Given the description of an element on the screen output the (x, y) to click on. 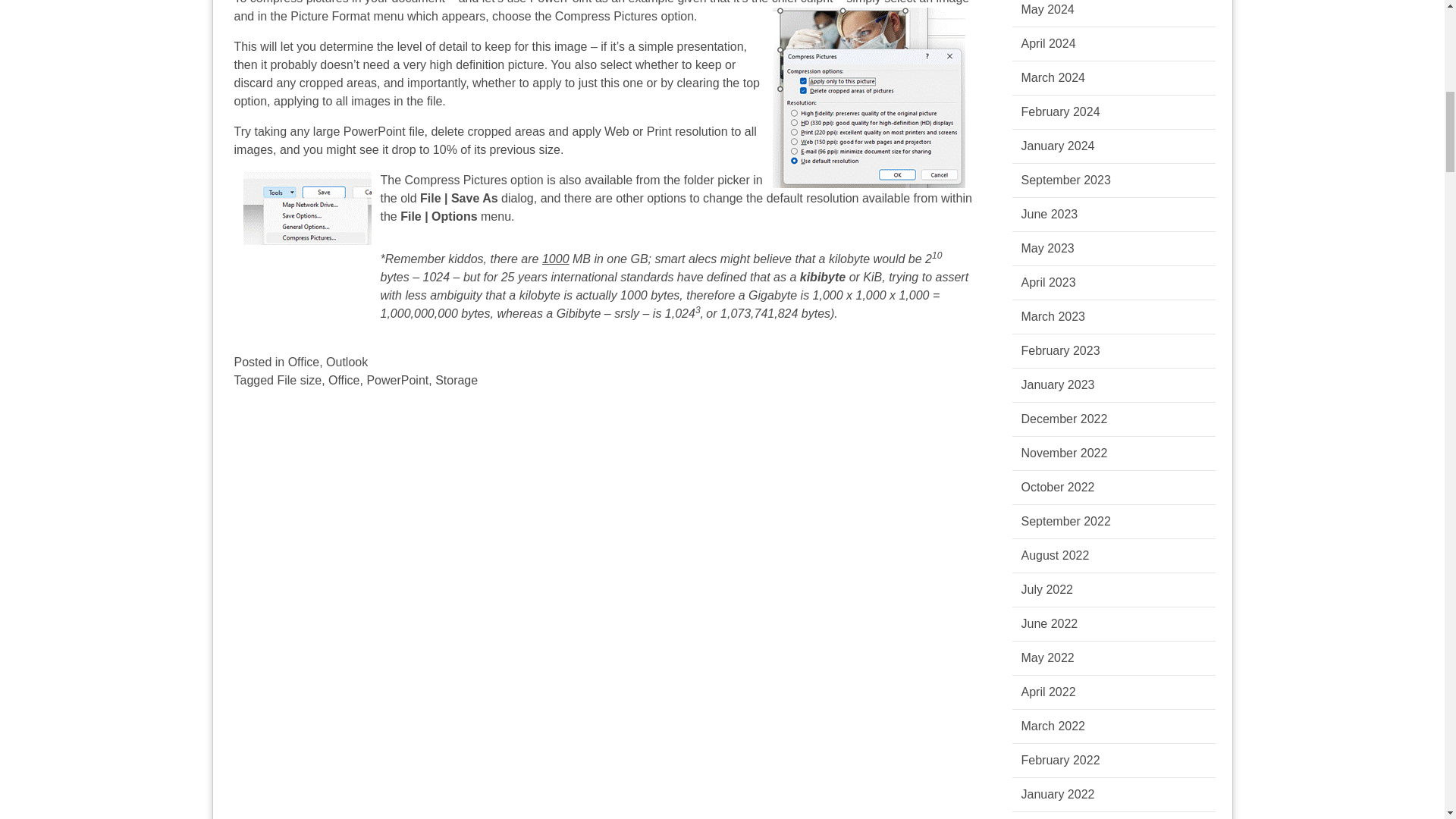
File size (298, 379)
international standards (612, 277)
PowerPoint (397, 379)
Outlook (347, 361)
Storage (456, 379)
kibibyte (822, 277)
Office (344, 379)
kiddos (465, 258)
other options (650, 197)
srsly (626, 313)
